Given the description of an element on the screen output the (x, y) to click on. 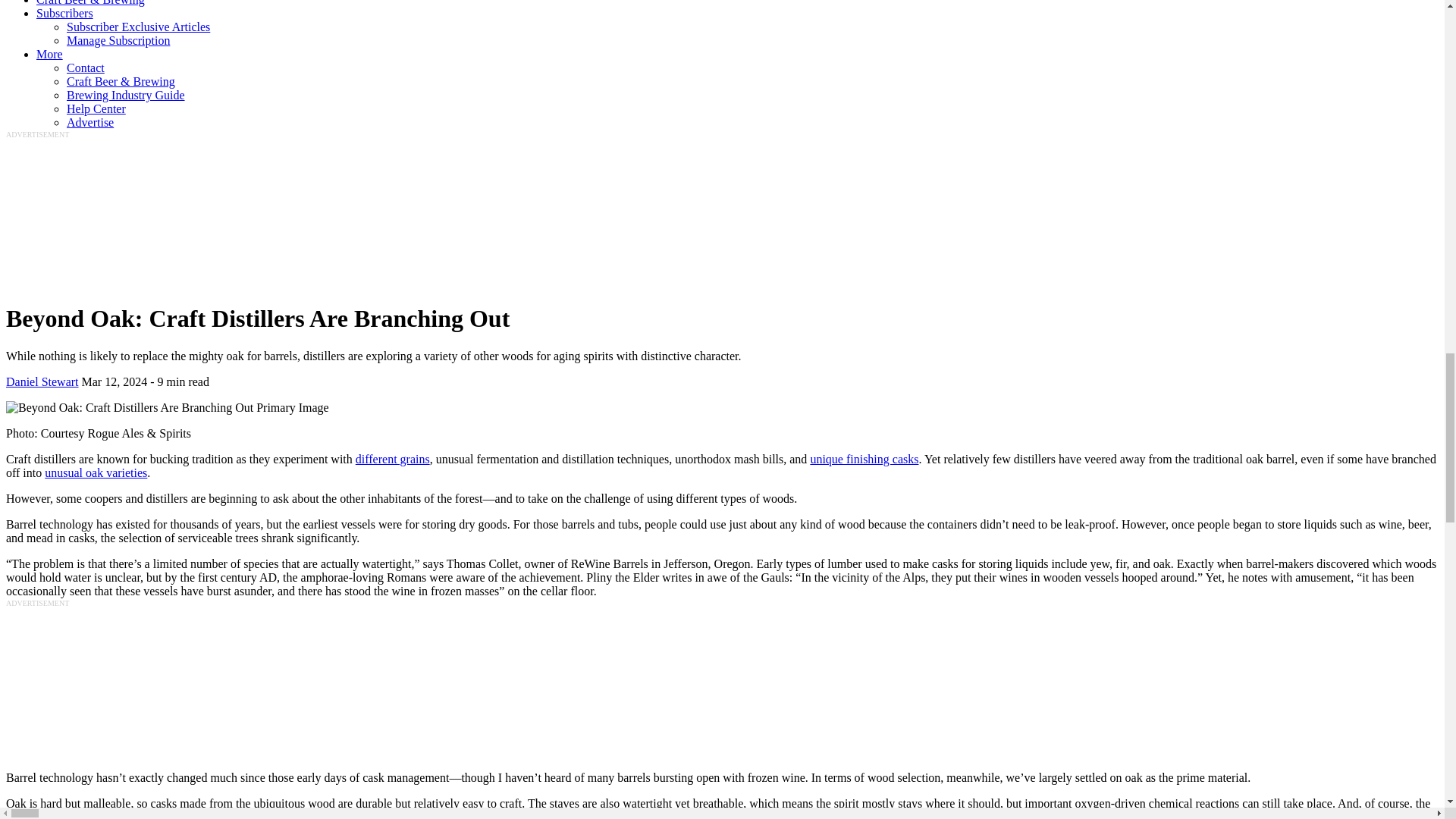
Subscriber Exclusive Articles (137, 26)
More (49, 53)
Brewing Industry Guide (125, 94)
Subscribers (64, 12)
unique finishing casks (863, 459)
Daniel Stewart (41, 381)
Contact (85, 67)
unusual oak varieties (96, 472)
Advertise (89, 122)
different grains (392, 459)
